Given the description of an element on the screen output the (x, y) to click on. 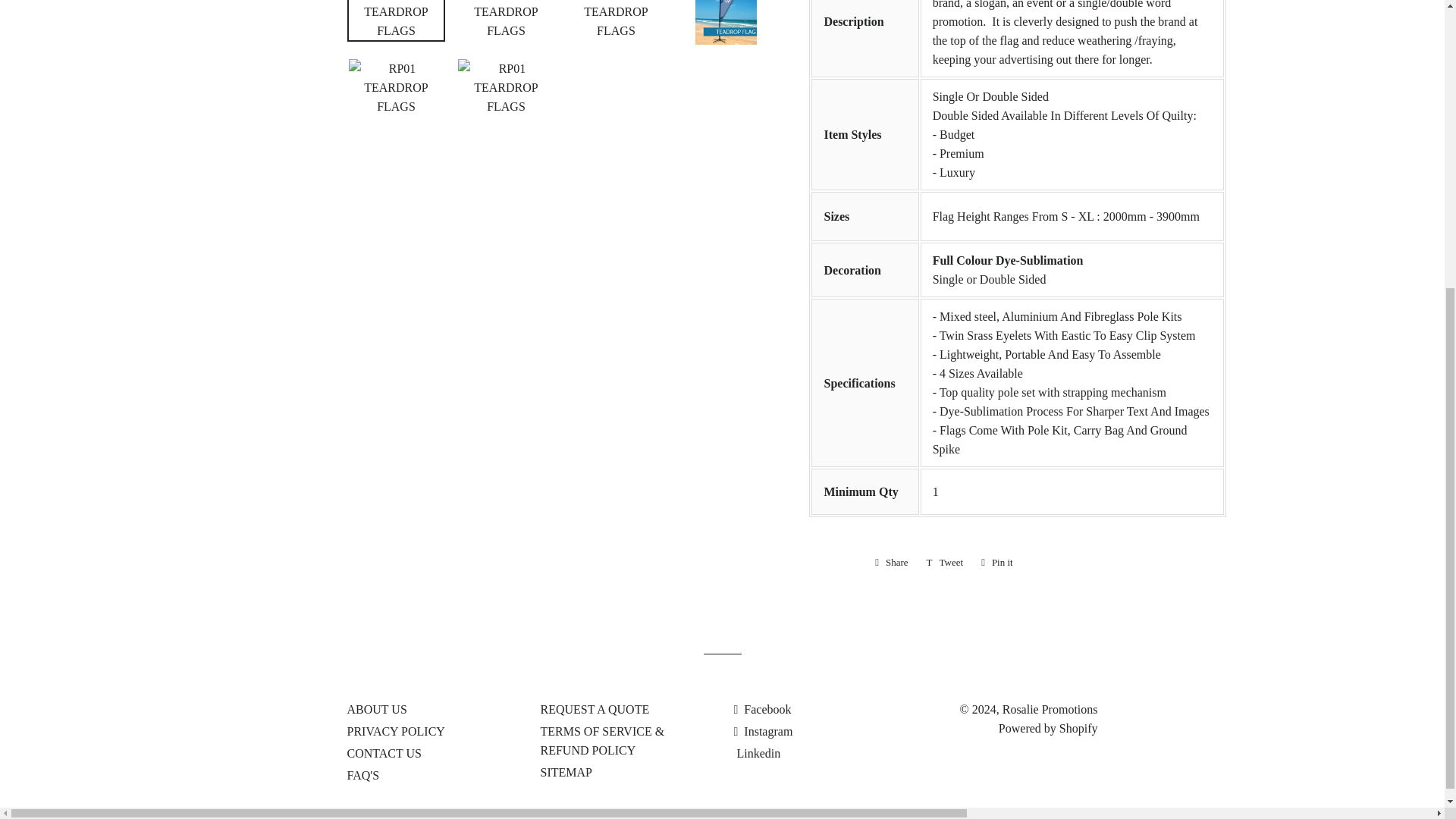
Rosalie Promotions on Lnikedin (756, 753)
Rosalie Promotions on Facebook (762, 708)
Pin on Pinterest (997, 562)
Tweet on Twitter (944, 562)
Share on Facebook (891, 562)
Rosalie Promotions on Instagram (763, 730)
